Given the description of an element on the screen output the (x, y) to click on. 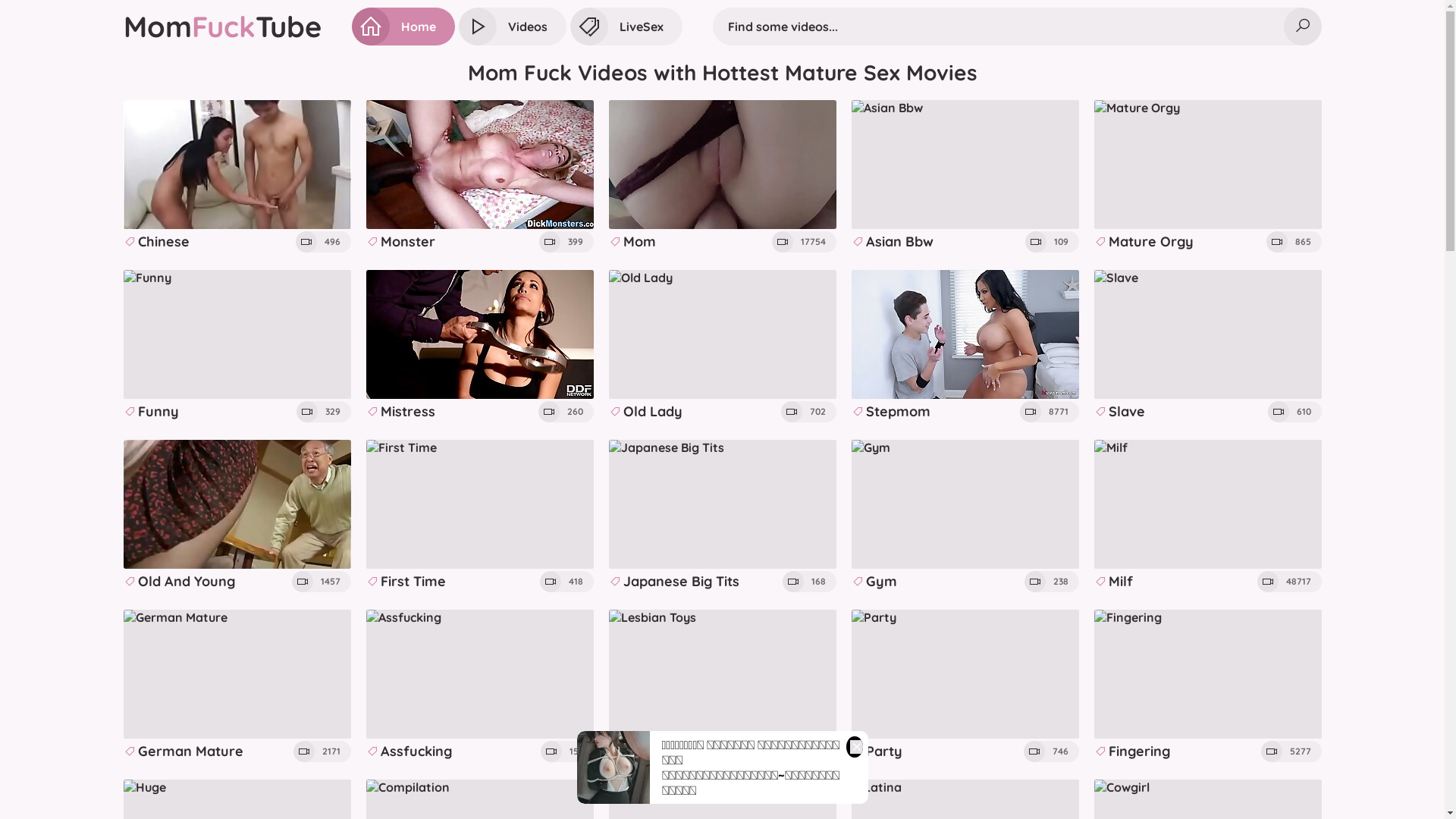
Old Lady Element type: text (721, 346)
German Mature Element type: text (236, 686)
First Time Element type: text (479, 516)
Home Element type: text (403, 26)
Lesbian Toys Element type: text (721, 686)
Gym Element type: text (964, 516)
Party Element type: text (964, 686)
Find Element type: hover (1302, 26)
LiveSex Element type: text (626, 26)
Japanese Big Tits Element type: text (721, 516)
Fingering Element type: text (1207, 686)
Slave Element type: text (1207, 346)
Mistress Element type: text (479, 346)
Asian Bbw Element type: text (964, 177)
Funny Element type: text (236, 346)
Videos Element type: text (511, 26)
Monster Element type: text (479, 177)
Assfucking Element type: text (479, 686)
Old And Young Element type: text (236, 516)
Chinese Element type: text (236, 177)
Mom Element type: text (721, 177)
Mature Orgy Element type: text (1207, 177)
MomFuckTube Element type: text (221, 26)
Milf Element type: text (1207, 516)
Stepmom Element type: text (964, 346)
